Given the description of an element on the screen output the (x, y) to click on. 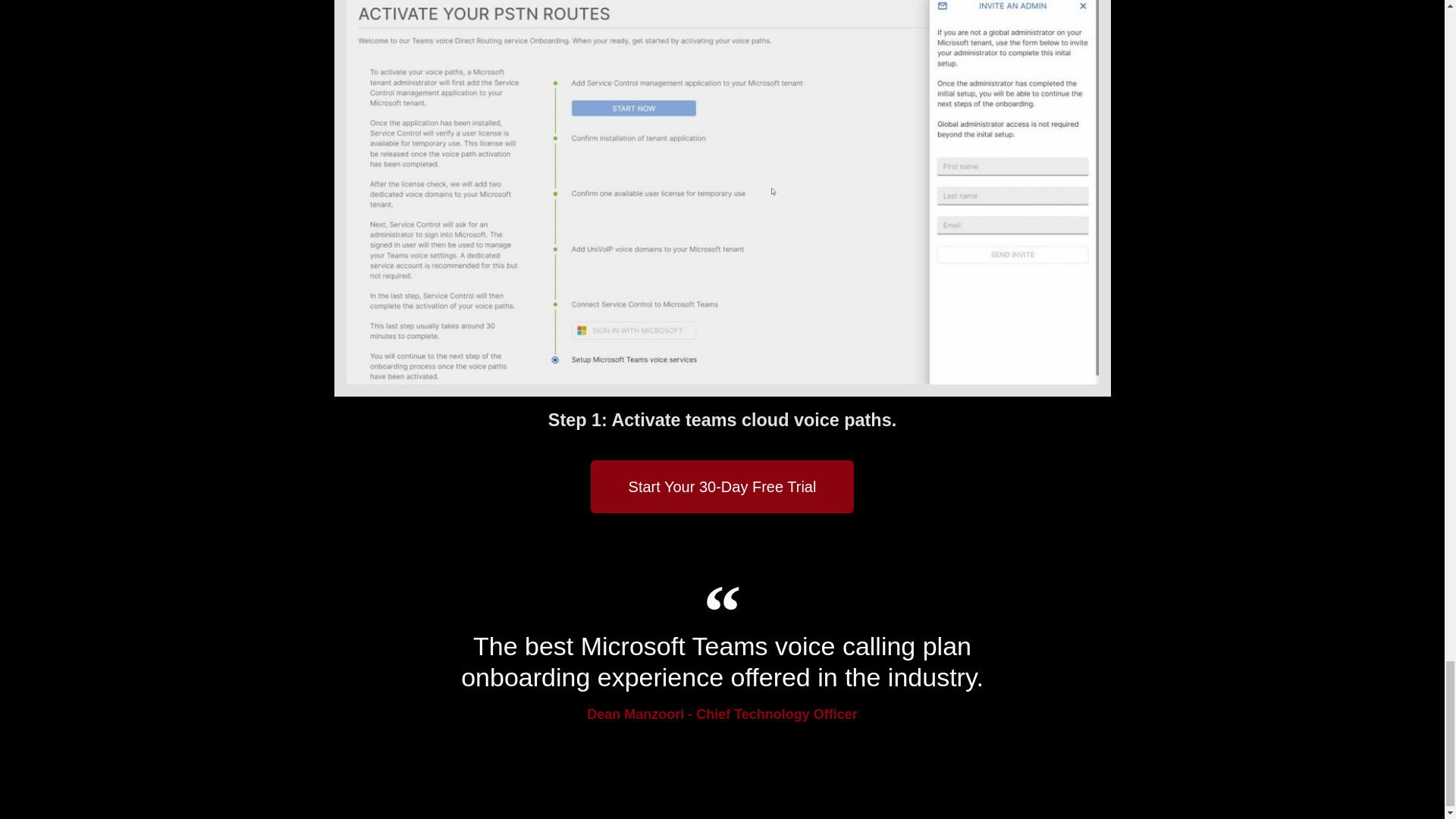
Start Your 30-Day Free Trial (722, 486)
